Given the description of an element on the screen output the (x, y) to click on. 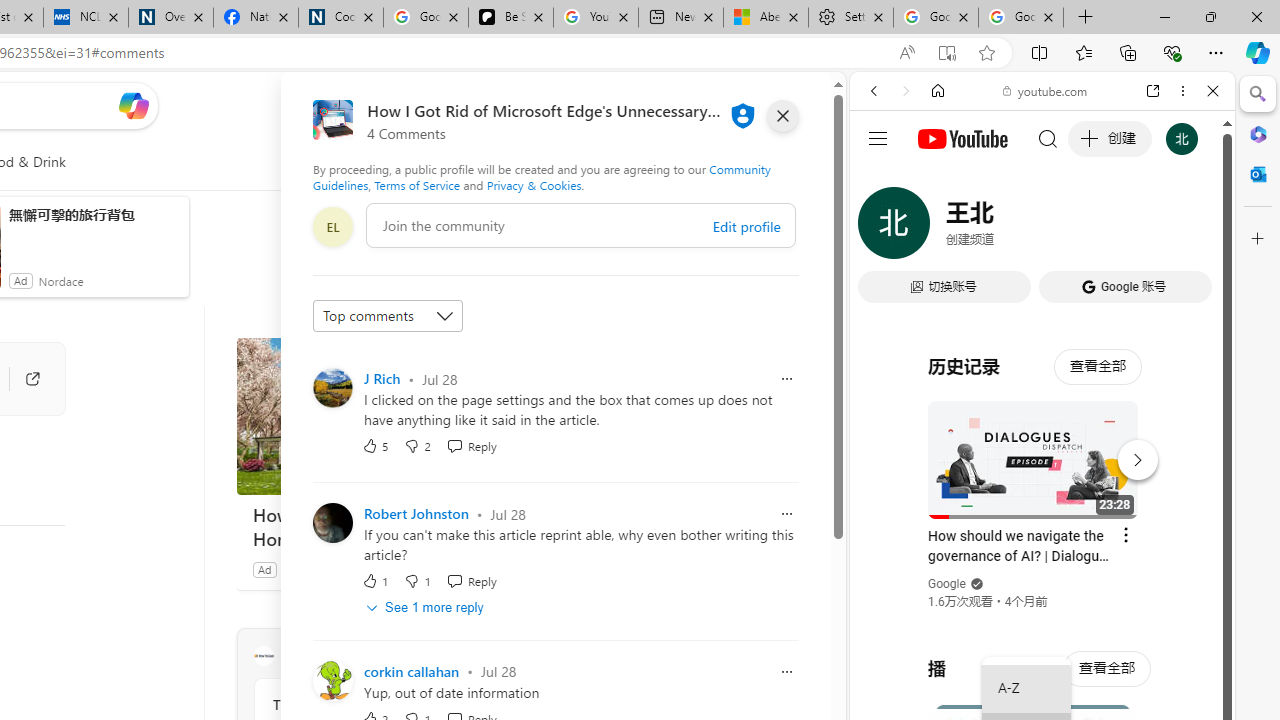
Be Smart | creating Science videos | Patreon (510, 17)
J Rich (381, 378)
YouTube (1034, 296)
Search Filter, Search Tools (1093, 228)
Google (1042, 494)
close (782, 115)
Profile Picture (333, 680)
5 Like (375, 445)
